Given the description of an element on the screen output the (x, y) to click on. 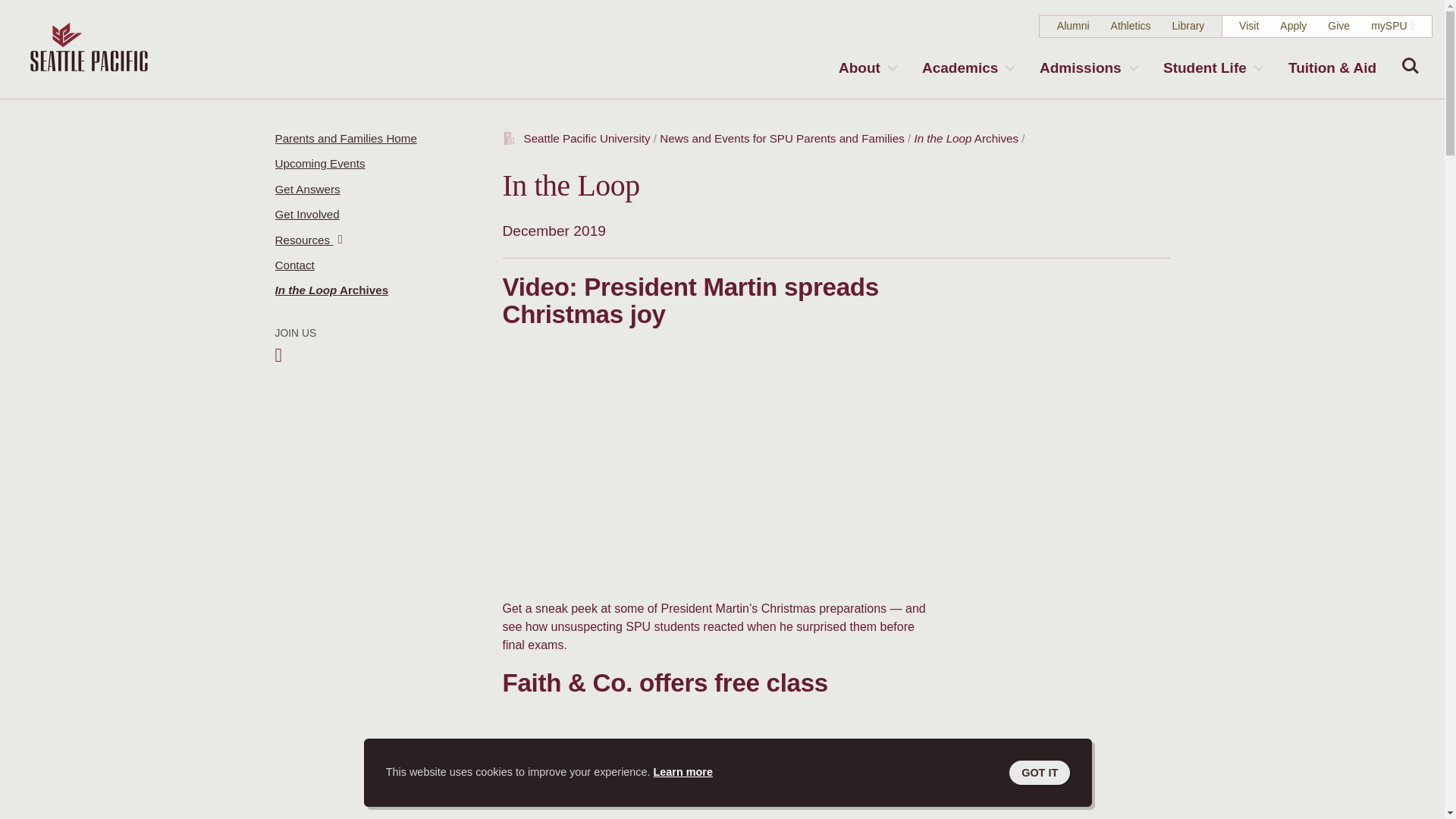
Apply (1292, 26)
Visit (1249, 26)
Library (1188, 26)
Give (1338, 26)
GOT IT (1039, 772)
Alumni (1073, 26)
mySPU (1388, 26)
Learn more (683, 771)
About (866, 67)
Athletics (1130, 26)
Academics (967, 67)
